Given the description of an element on the screen output the (x, y) to click on. 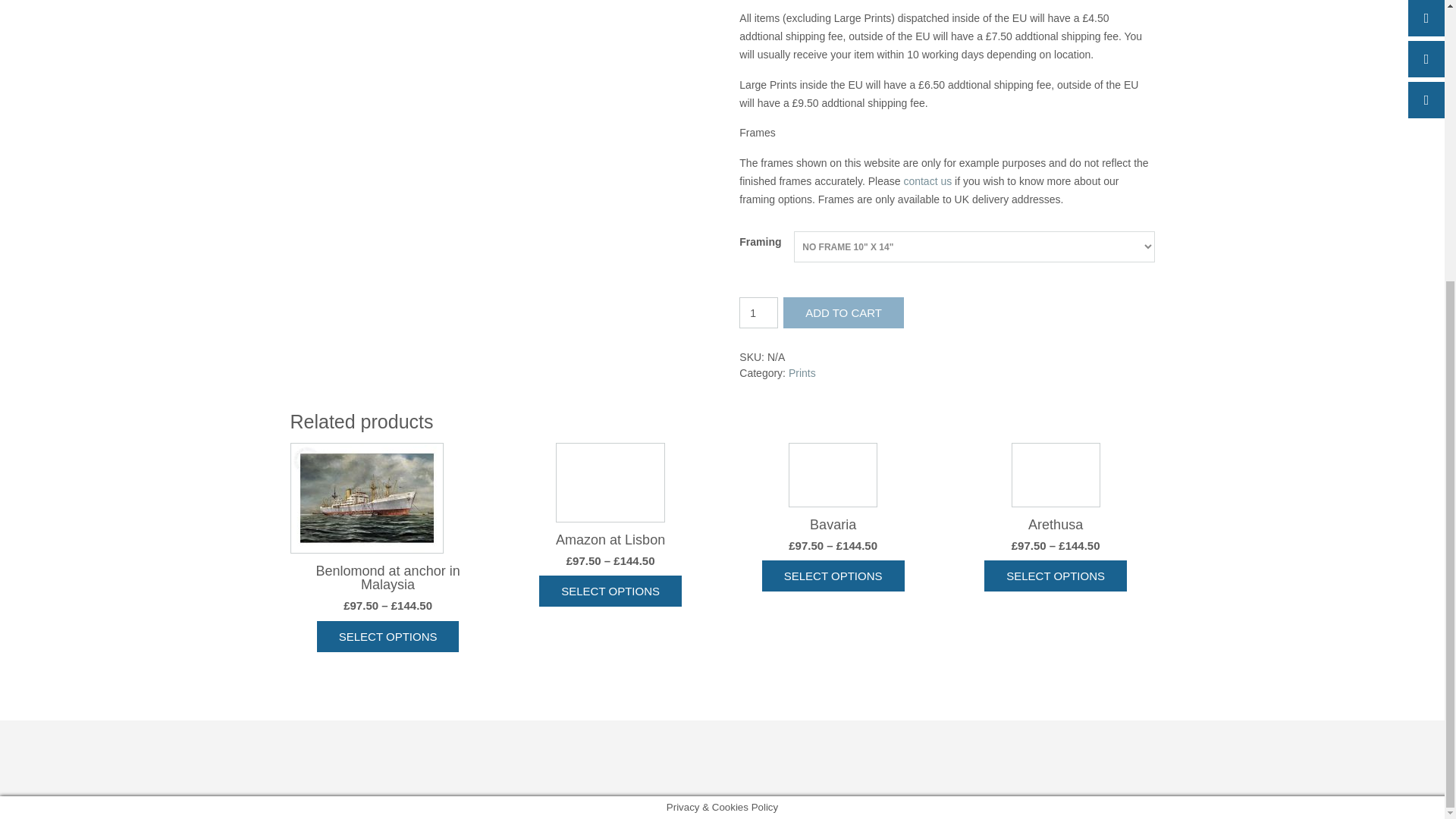
SELECT OPTIONS (388, 635)
contact us (927, 181)
SELECT OPTIONS (609, 590)
SELECT OPTIONS (832, 575)
1 (758, 312)
ADD TO CART (843, 312)
Prints (802, 372)
Contact us (927, 181)
